Given the description of an element on the screen output the (x, y) to click on. 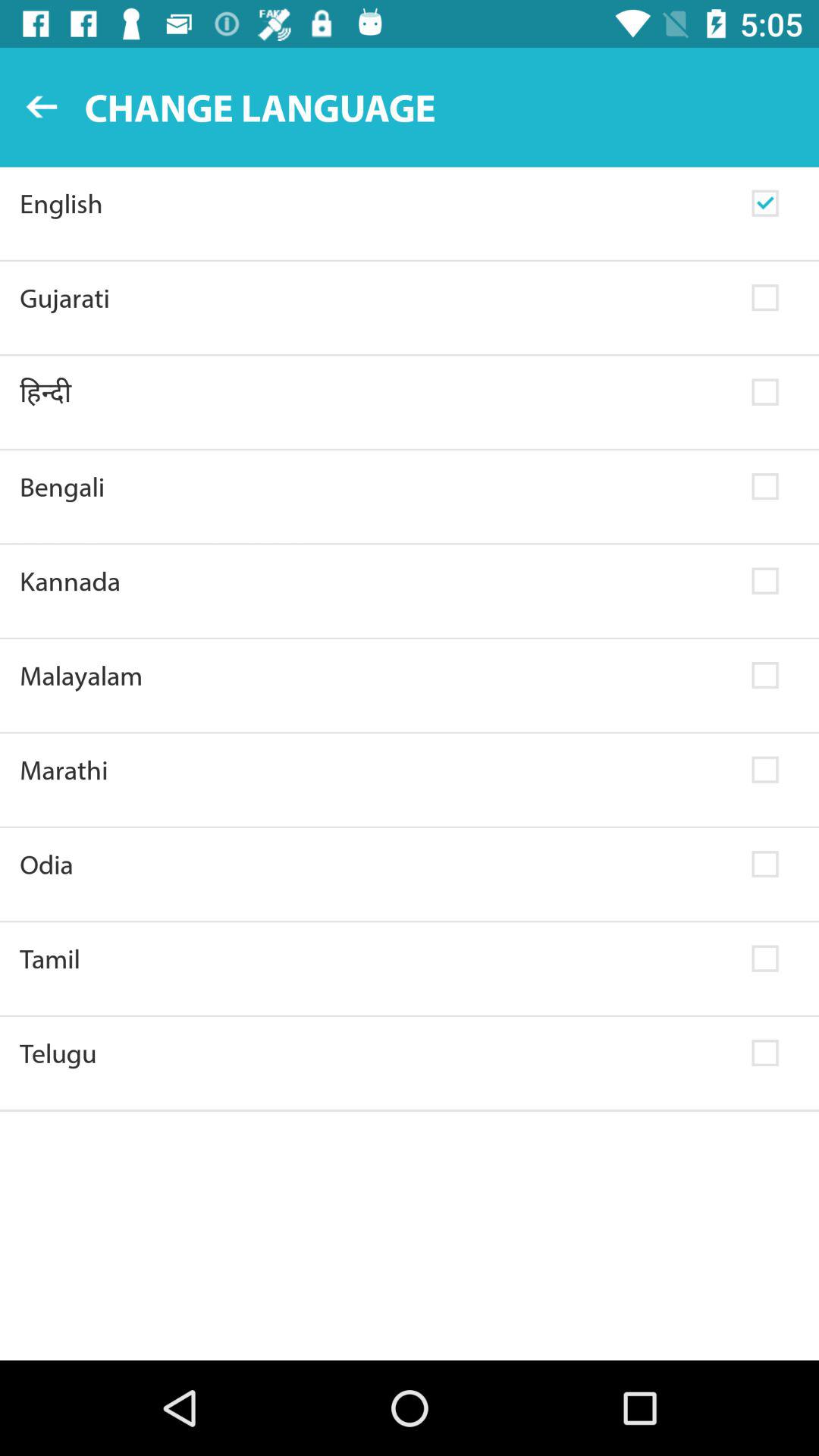
click bengali icon (375, 486)
